Given the description of an element on the screen output the (x, y) to click on. 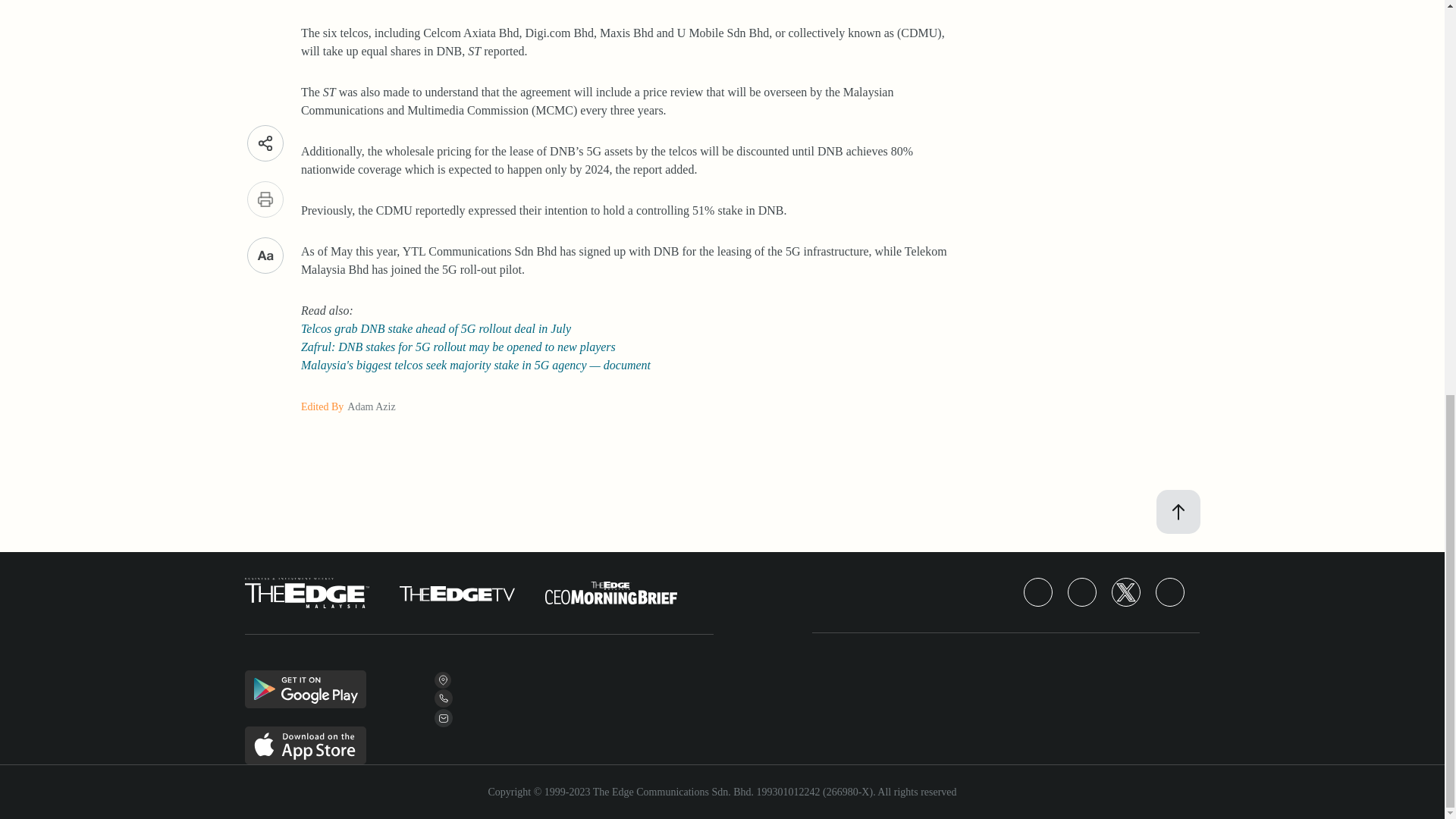
Telcos grab DNB stake ahead of 5G rollout deal in July (435, 328)
